Given the description of an element on the screen output the (x, y) to click on. 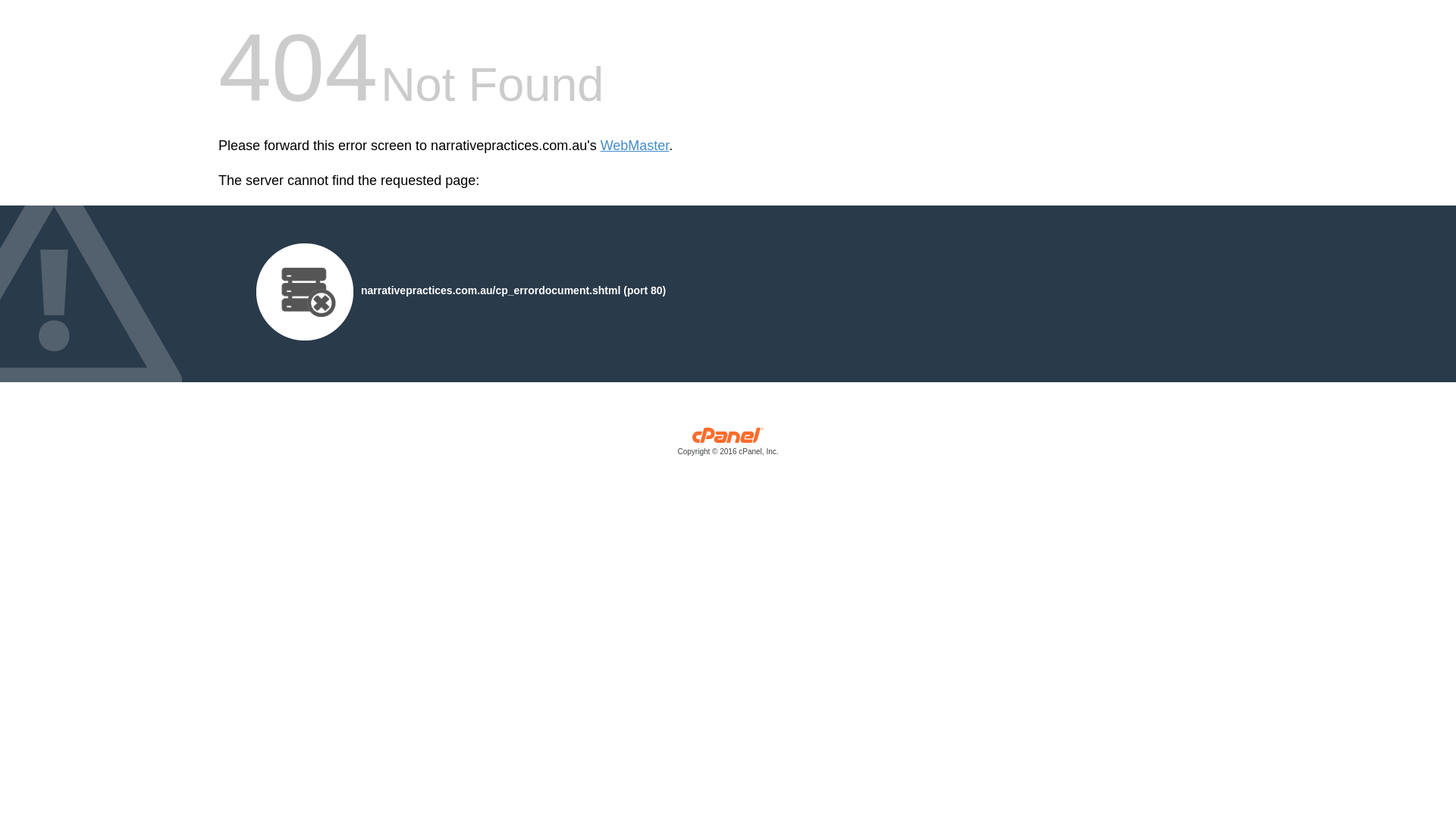
WebMaster Element type: text (634, 145)
